Given the description of an element on the screen output the (x, y) to click on. 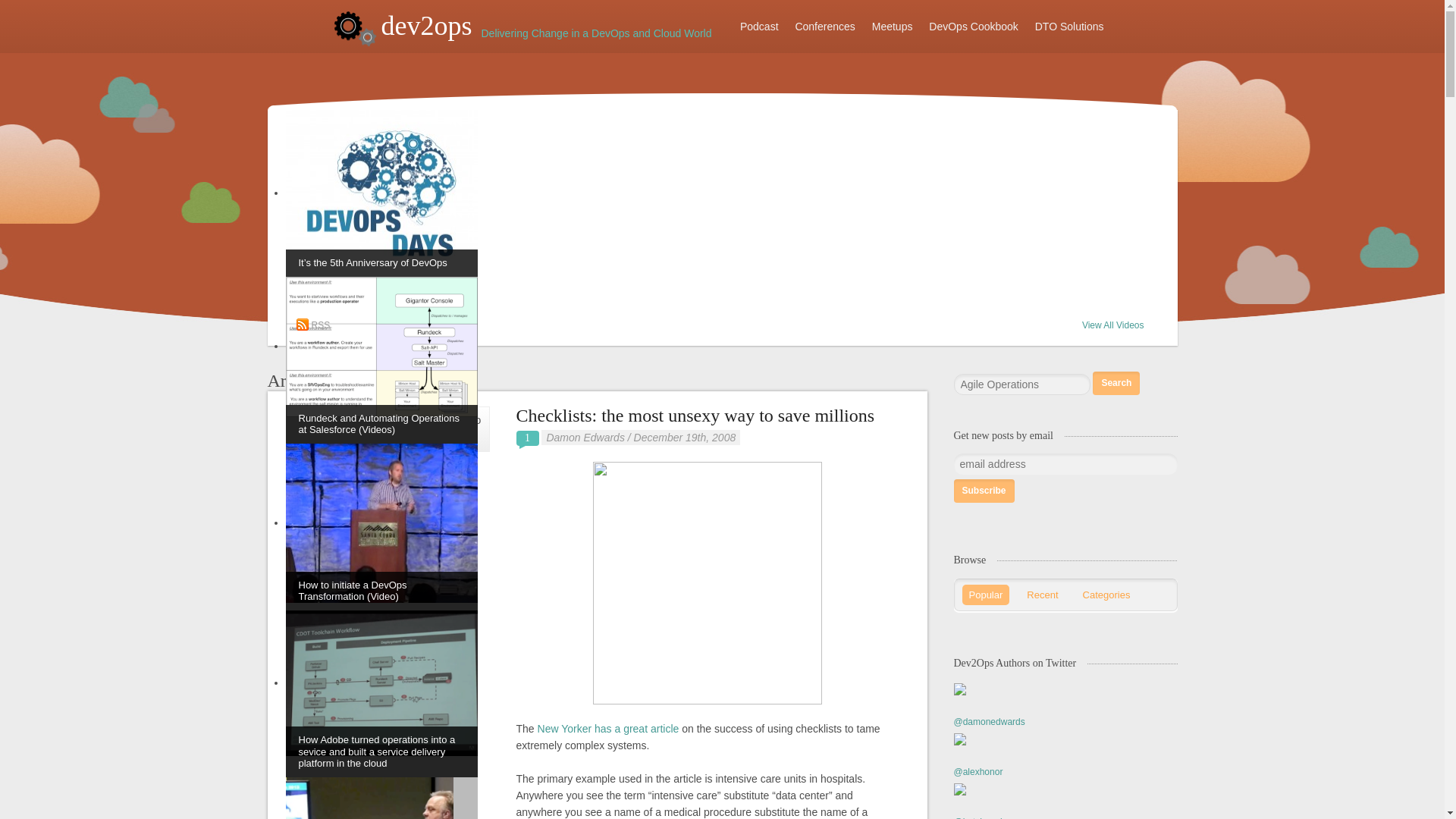
Conferences (824, 26)
dev2ops (402, 29)
Subscribe (983, 490)
John Willis Notes Notable DevOps Culture Traits (381, 798)
DevOps Cafe Podcast (759, 26)
Podcast (759, 26)
Meetups (892, 26)
Search (1116, 382)
DevOps Cookbook (973, 26)
DTO Solutions (1068, 26)
John Willis Notes Notable DevOps Culture Traits (381, 798)
